Given the description of an element on the screen output the (x, y) to click on. 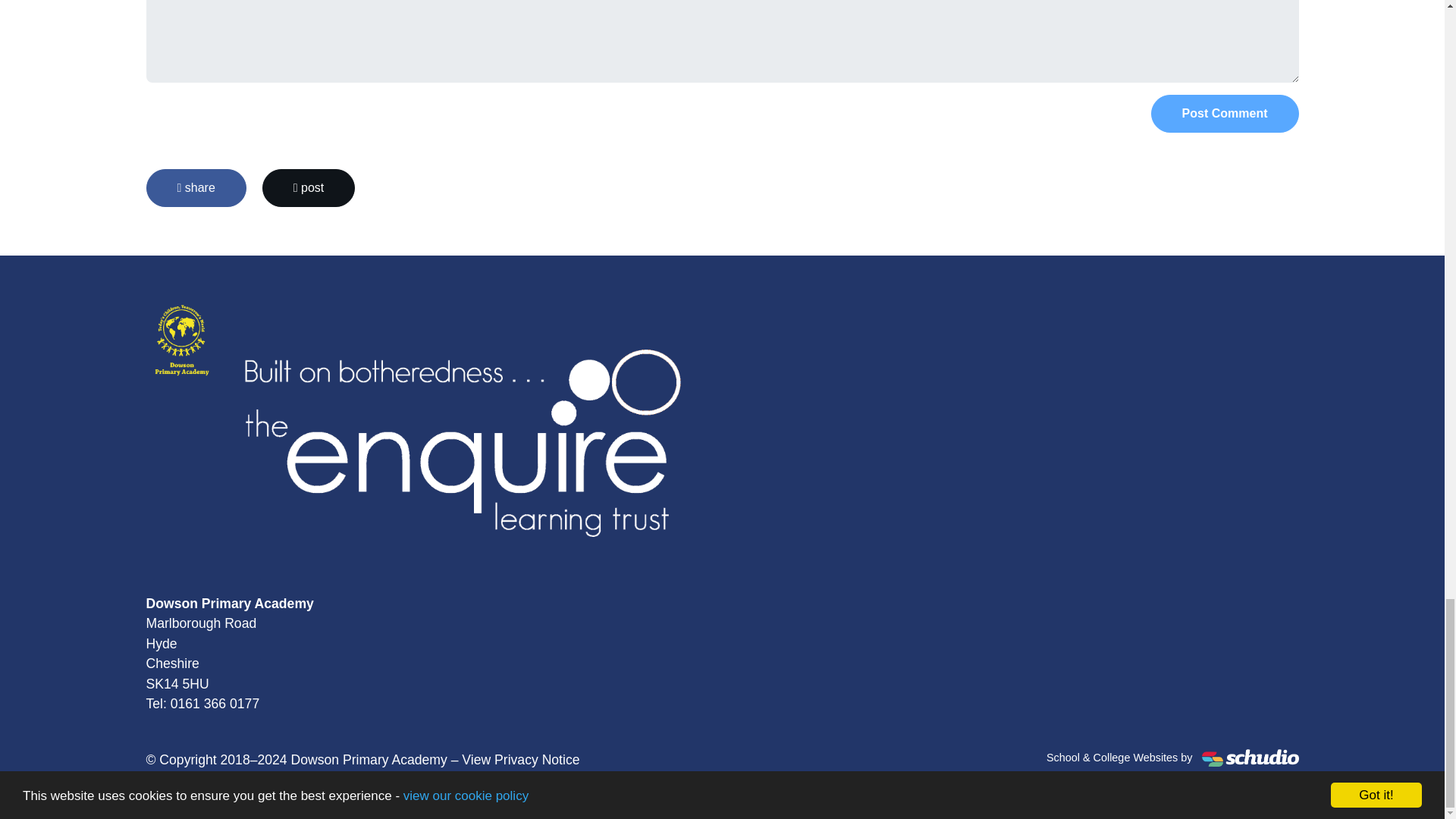
Share on Facebook (195, 187)
Post on X (308, 187)
